Given the description of an element on the screen output the (x, y) to click on. 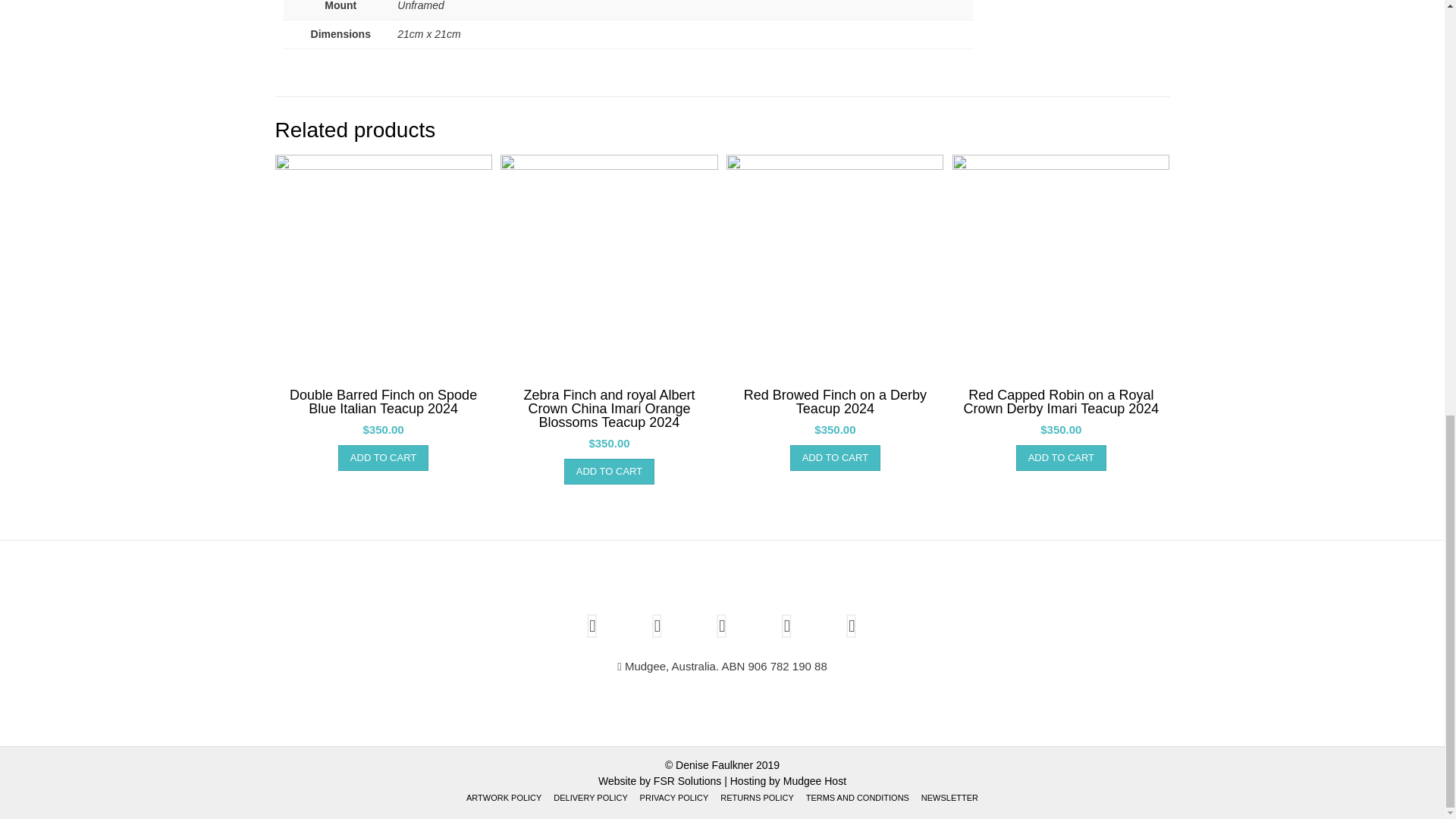
Find Us on Facebook (787, 626)
Call Us (592, 626)
Find Us on Instagram (852, 626)
ADD TO CART (382, 457)
Send Us an Email (722, 626)
SMS Us (656, 626)
